Given the description of an element on the screen output the (x, y) to click on. 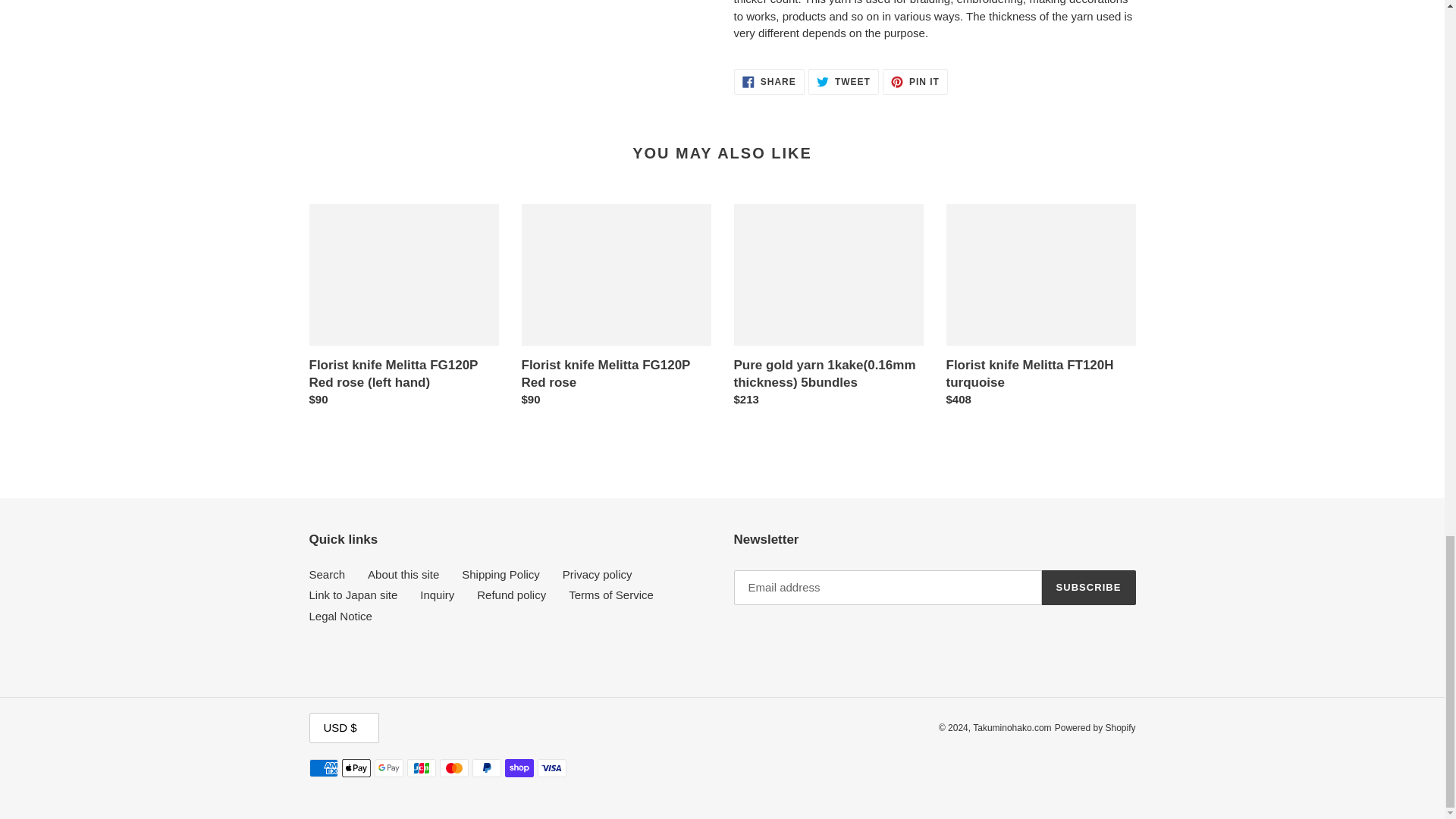
Privacy policy (596, 574)
Florist knife Melitta FG120P Red rose (616, 308)
Shipping Policy (500, 574)
Link to Japan site (769, 81)
About this site (352, 594)
Search (403, 574)
Inquiry (914, 81)
